Given the description of an element on the screen output the (x, y) to click on. 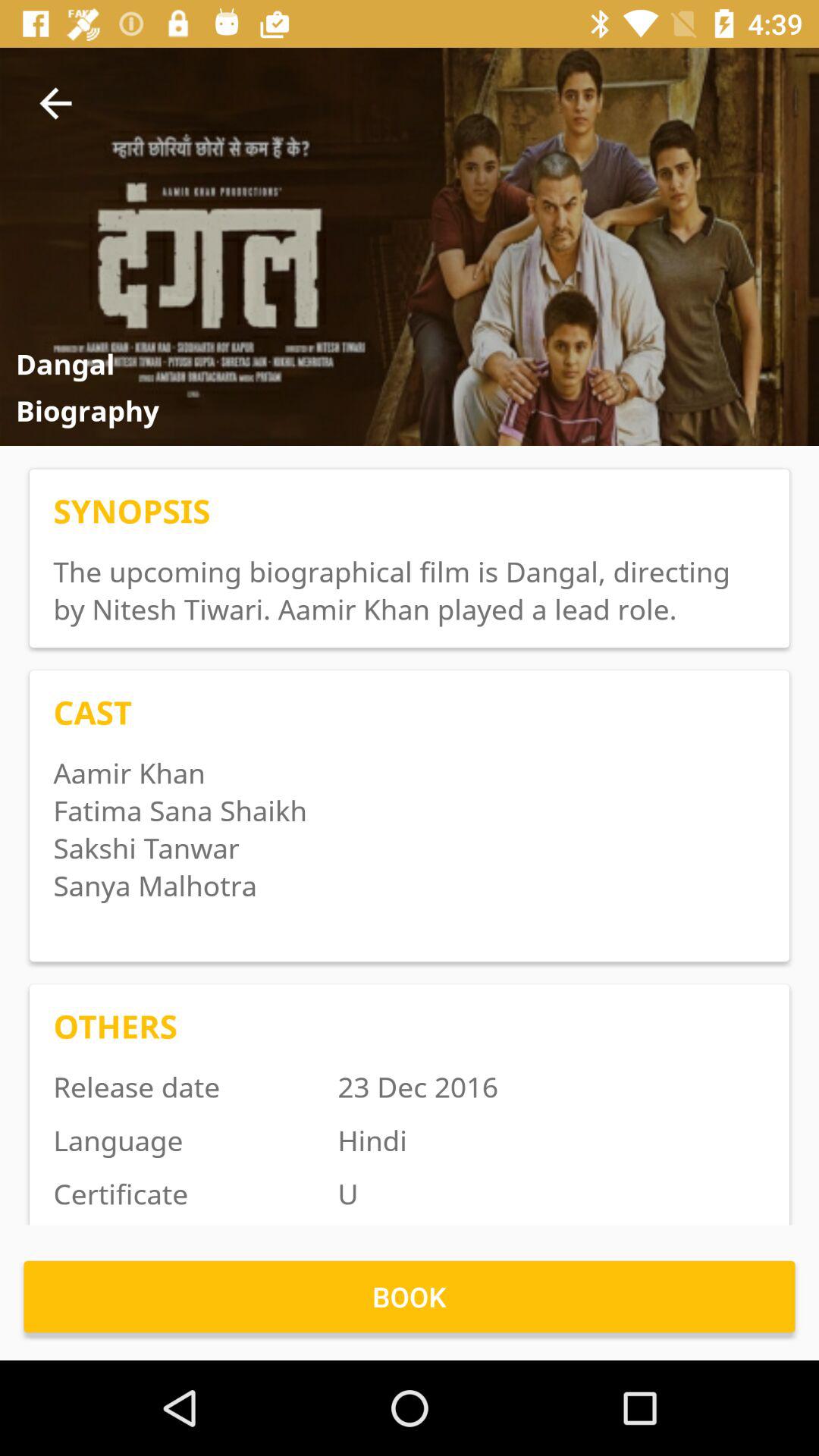
swipe until the book item (409, 1296)
